Given the description of an element on the screen output the (x, y) to click on. 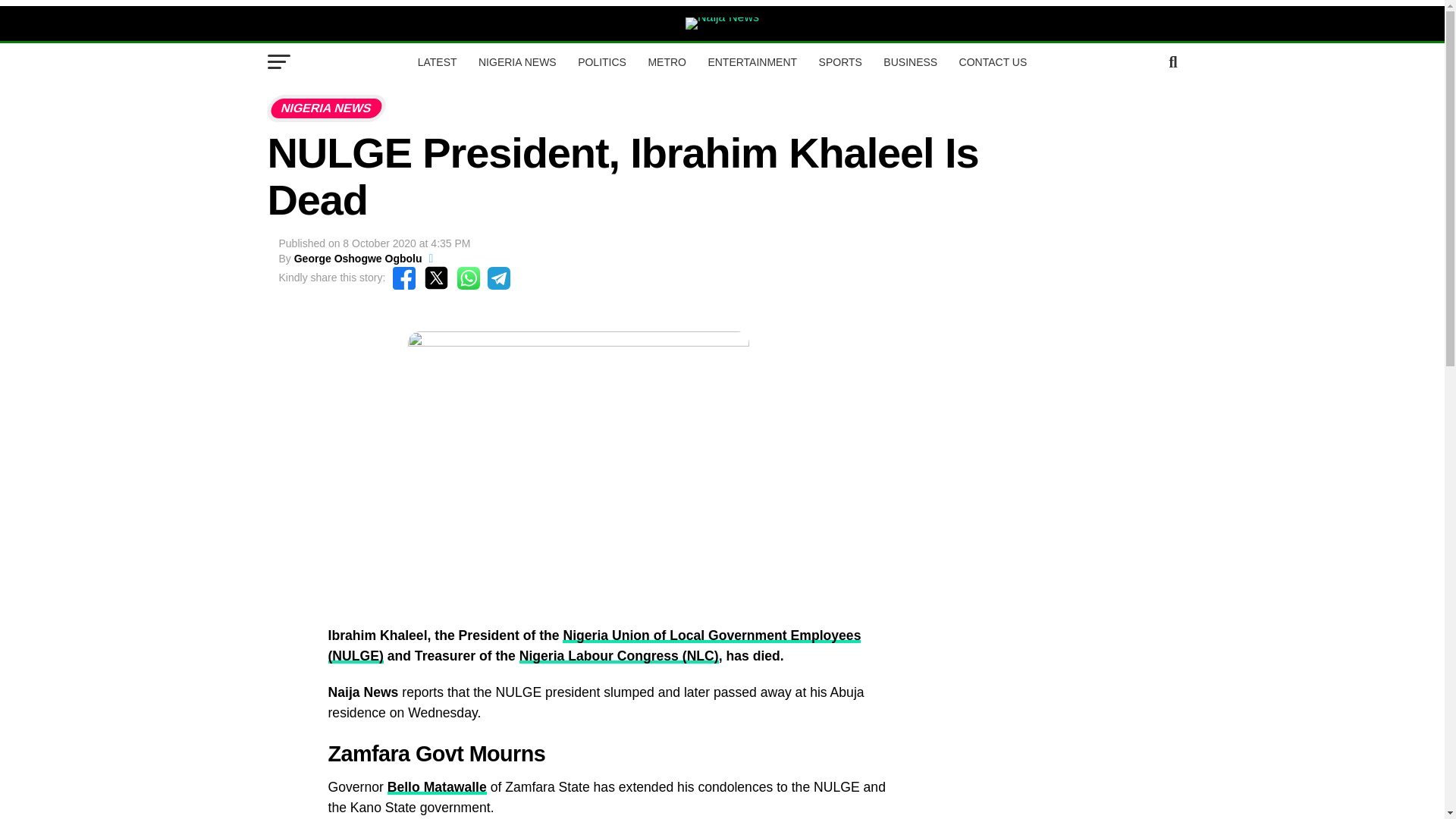
Bello Matawalle (436, 786)
CONTACT US (993, 62)
ENTERTAINMENT (752, 62)
METRO (667, 62)
George Oshogwe Ogbolu (358, 258)
BUSINESS (910, 62)
NIGERIA NEWS (517, 62)
SPORTS (839, 62)
LATEST (437, 62)
Posts by George Oshogwe Ogbolu (358, 258)
